Given the description of an element on the screen output the (x, y) to click on. 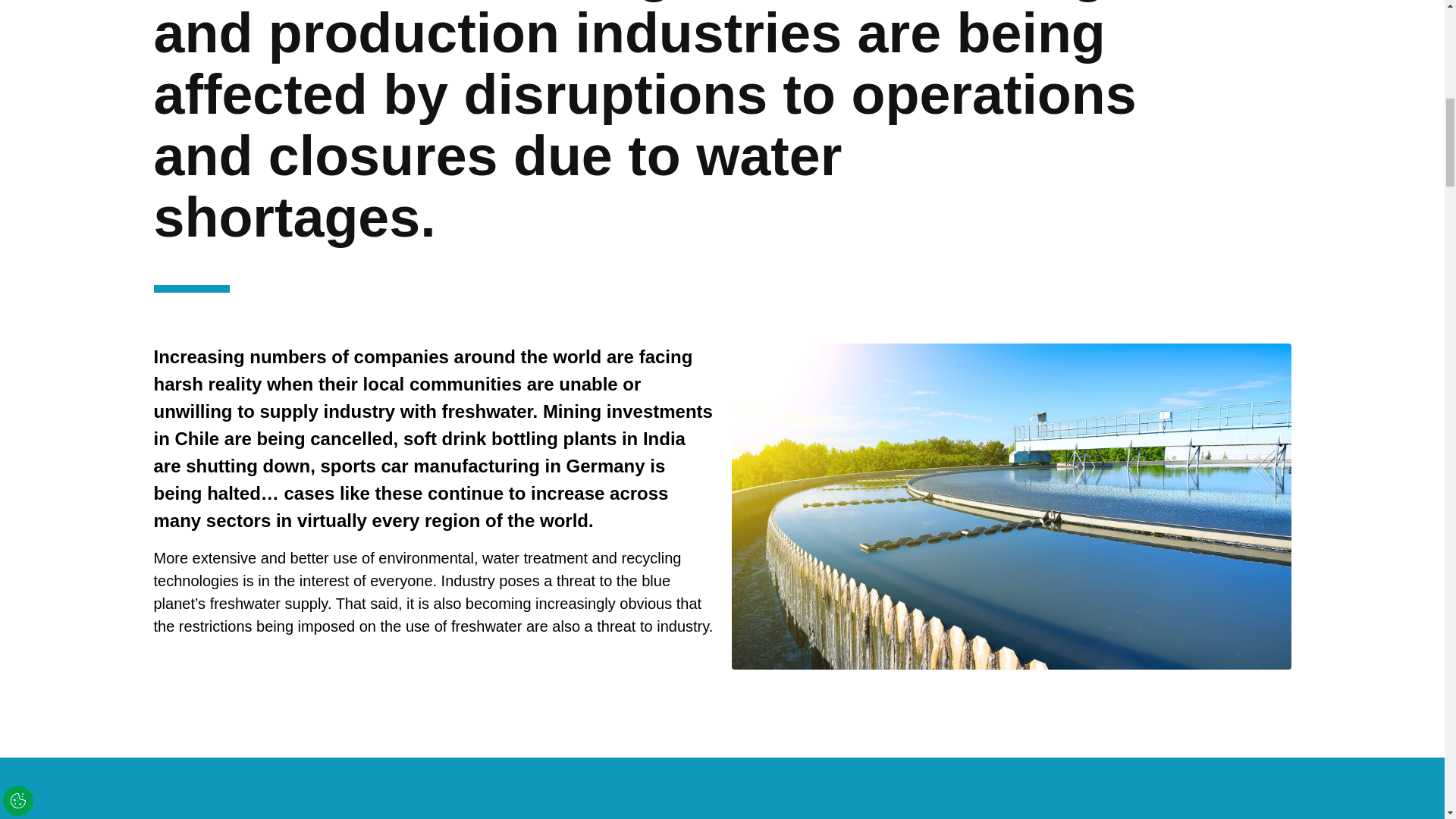
Cookie settings (1257, 29)
Accept all cookies (1354, 29)
